Given the description of an element on the screen output the (x, y) to click on. 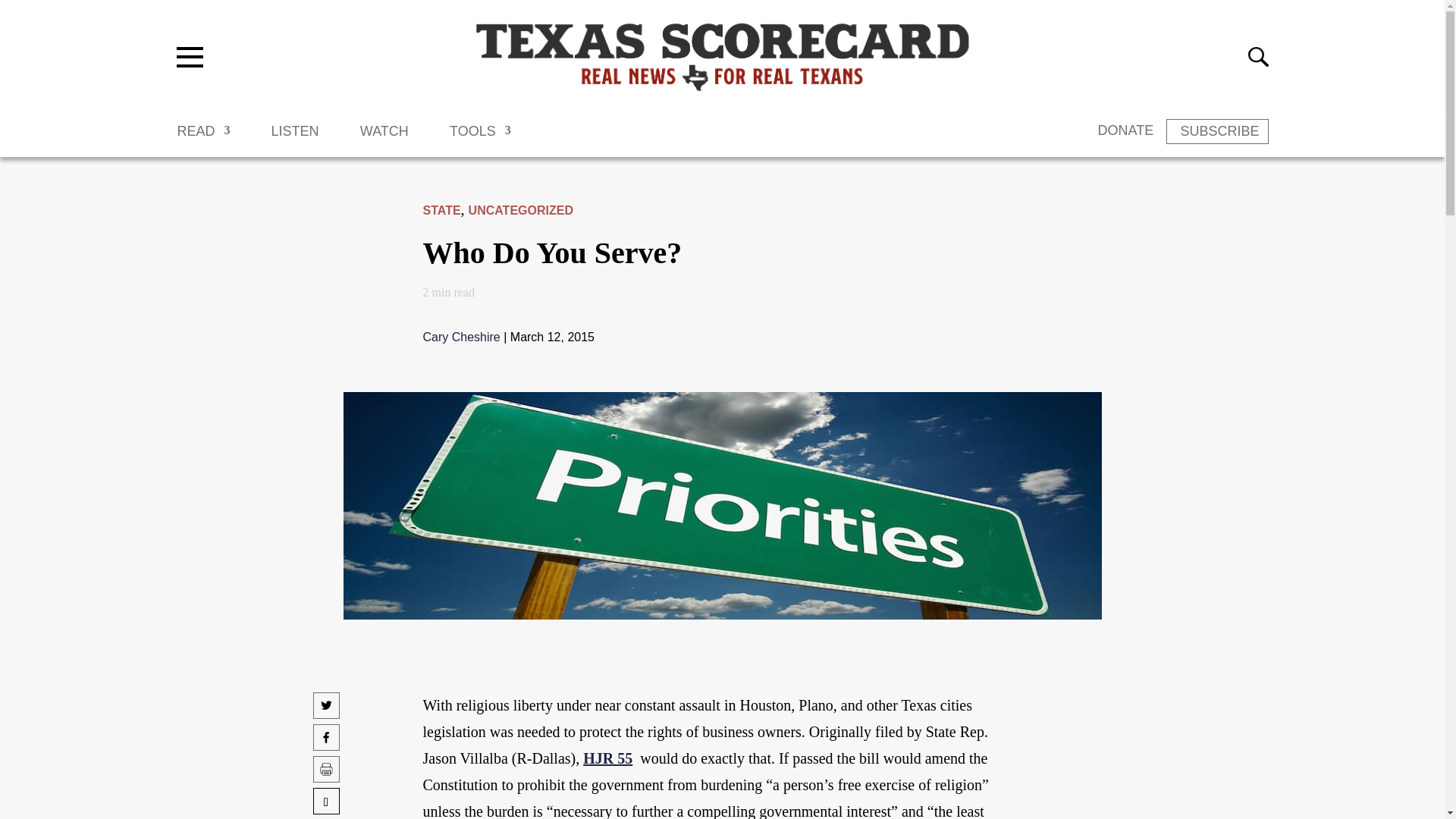
LISTEN (294, 138)
WATCH (384, 138)
READ (203, 138)
TOOLS (480, 138)
Icon - Search (1257, 56)
Posts by Cary Cheshire (461, 336)
Share this on Facebook (326, 745)
Share this on Twitter (326, 713)
tx-logo (722, 56)
